Given the description of an element on the screen output the (x, y) to click on. 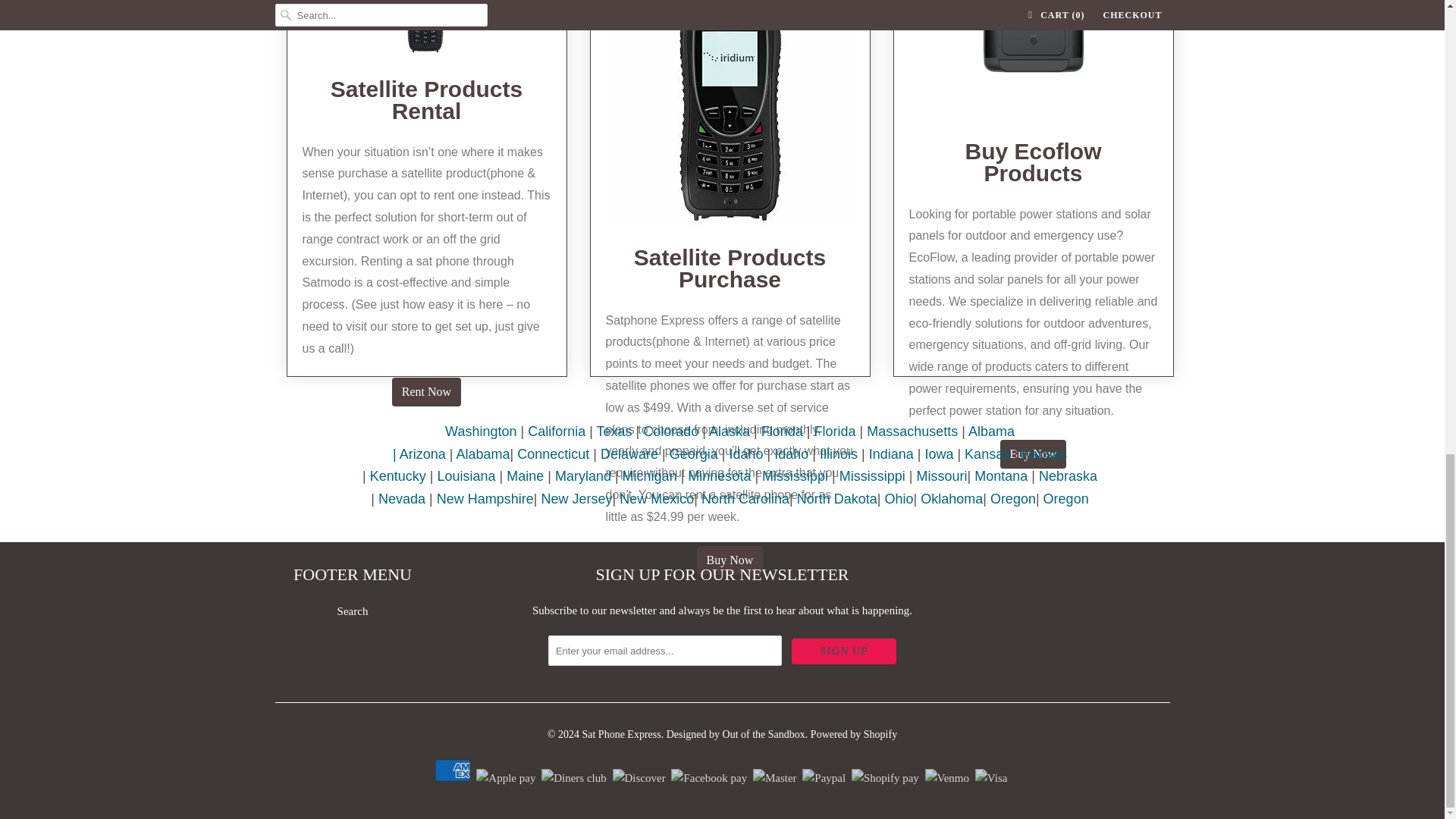
Connecticut (552, 453)
Indiana (891, 453)
Buy Now (1033, 453)
alabama (484, 453)
California Satellite (556, 431)
Texas (613, 431)
Washington (480, 431)
Georgia (693, 453)
Colorado Satellite (670, 431)
Florida (782, 431)
Colorado (670, 431)
Albama (703, 442)
Sign Up (844, 651)
Delaware (628, 453)
Idaho (745, 453)
